Given the description of an element on the screen output the (x, y) to click on. 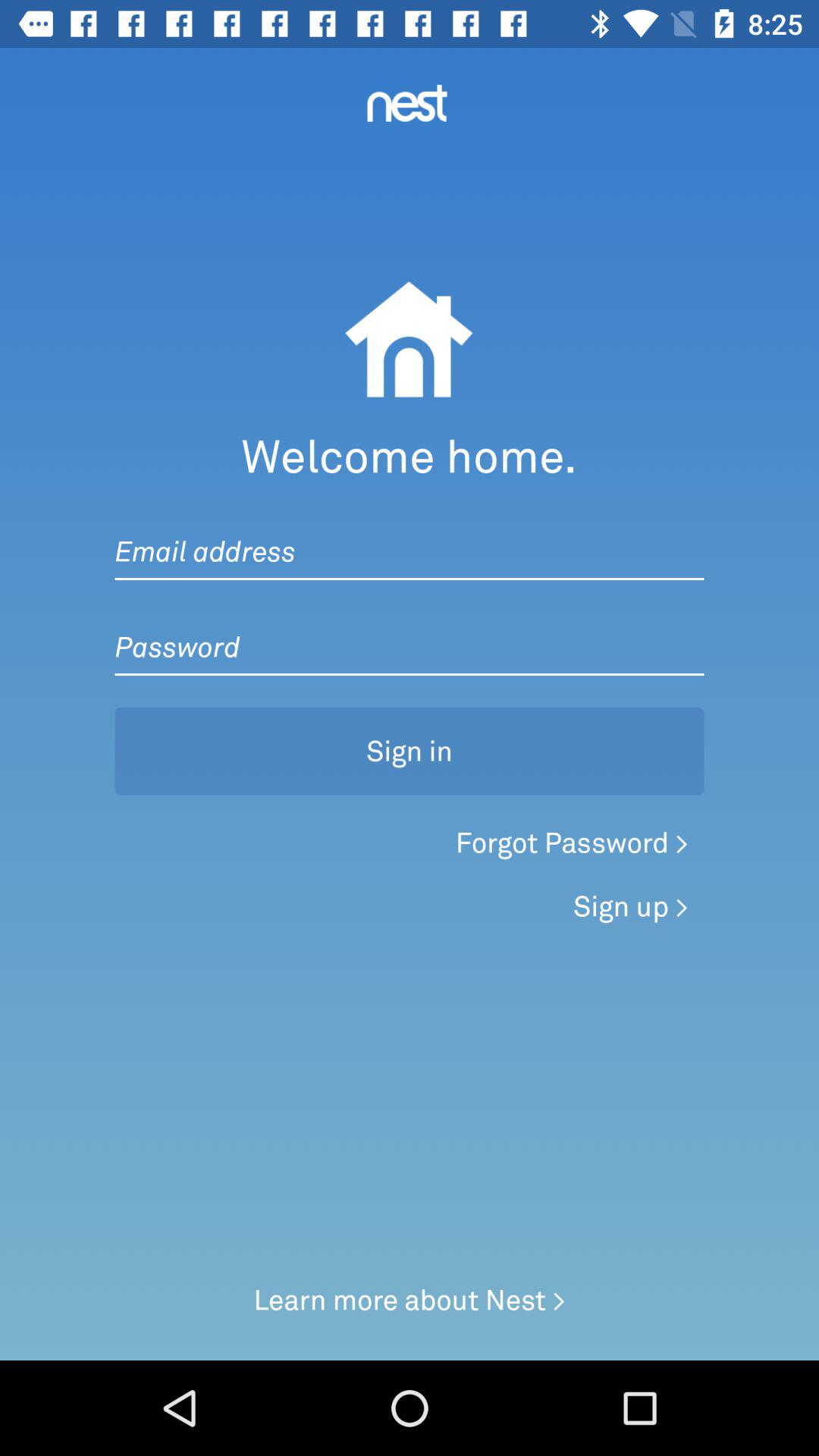
choose the sign in item (409, 751)
